Given the description of an element on the screen output the (x, y) to click on. 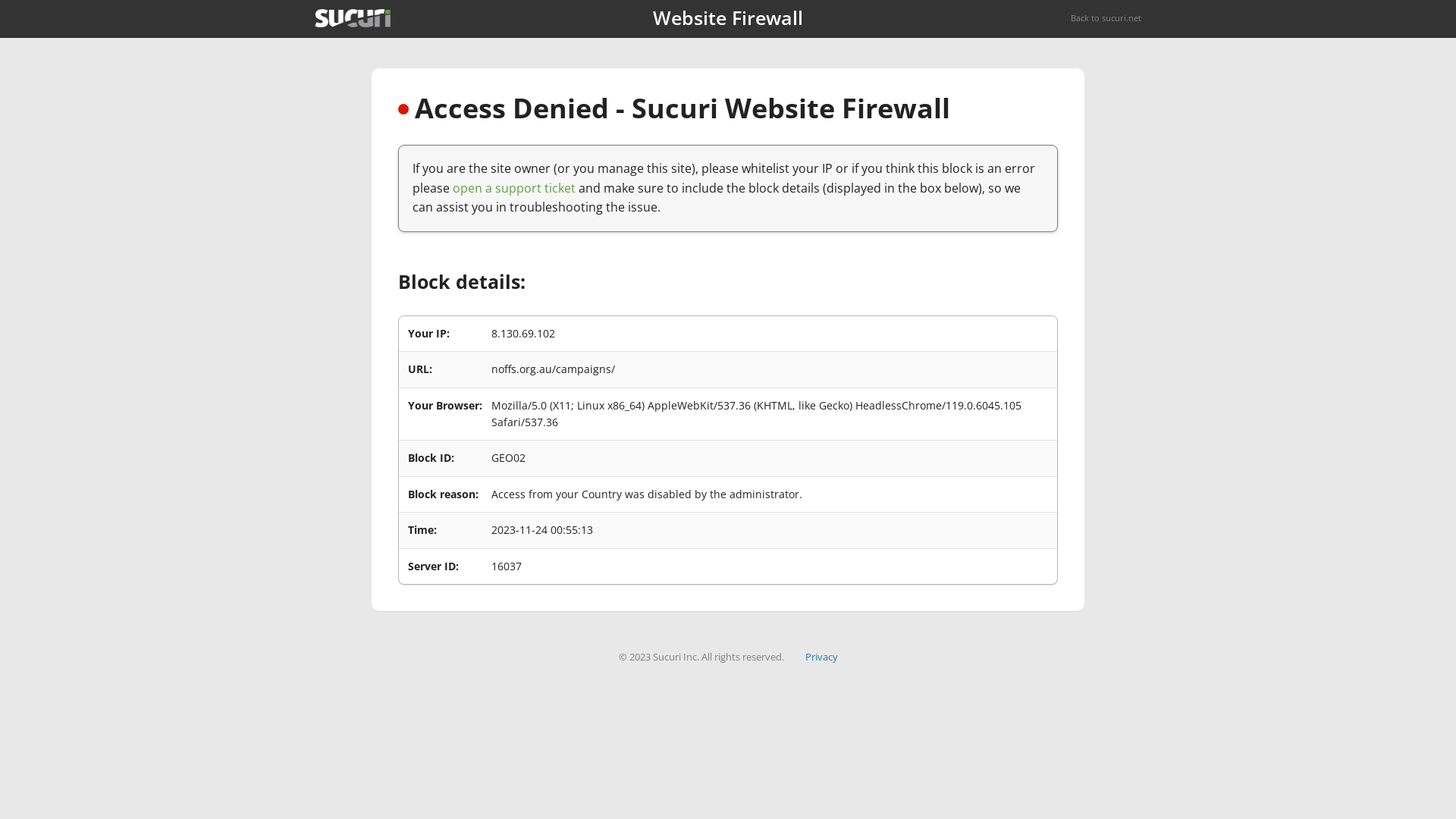
Back to sucuri.net Element type: text (1105, 18)
Privacy Element type: text (821, 656)
open a support ticket Element type: text (513, 187)
